Given the description of an element on the screen output the (x, y) to click on. 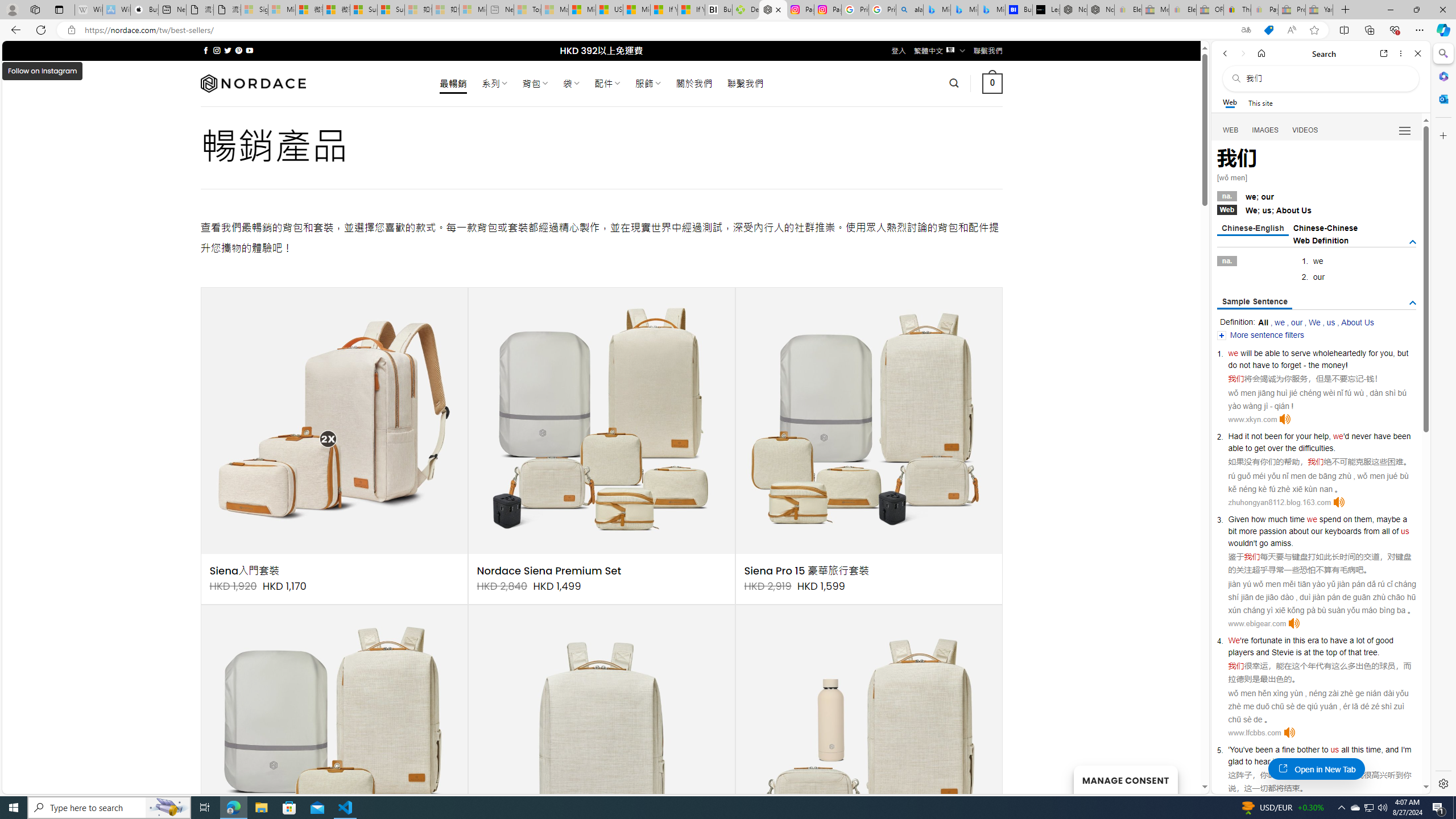
Threats and offensive language policy | eBay (1236, 9)
top (1331, 651)
AutomationID: tgdef (1412, 241)
but (1402, 352)
have (1337, 640)
all (1344, 749)
forget (1291, 364)
lot (1360, 640)
